Given the description of an element on the screen output the (x, y) to click on. 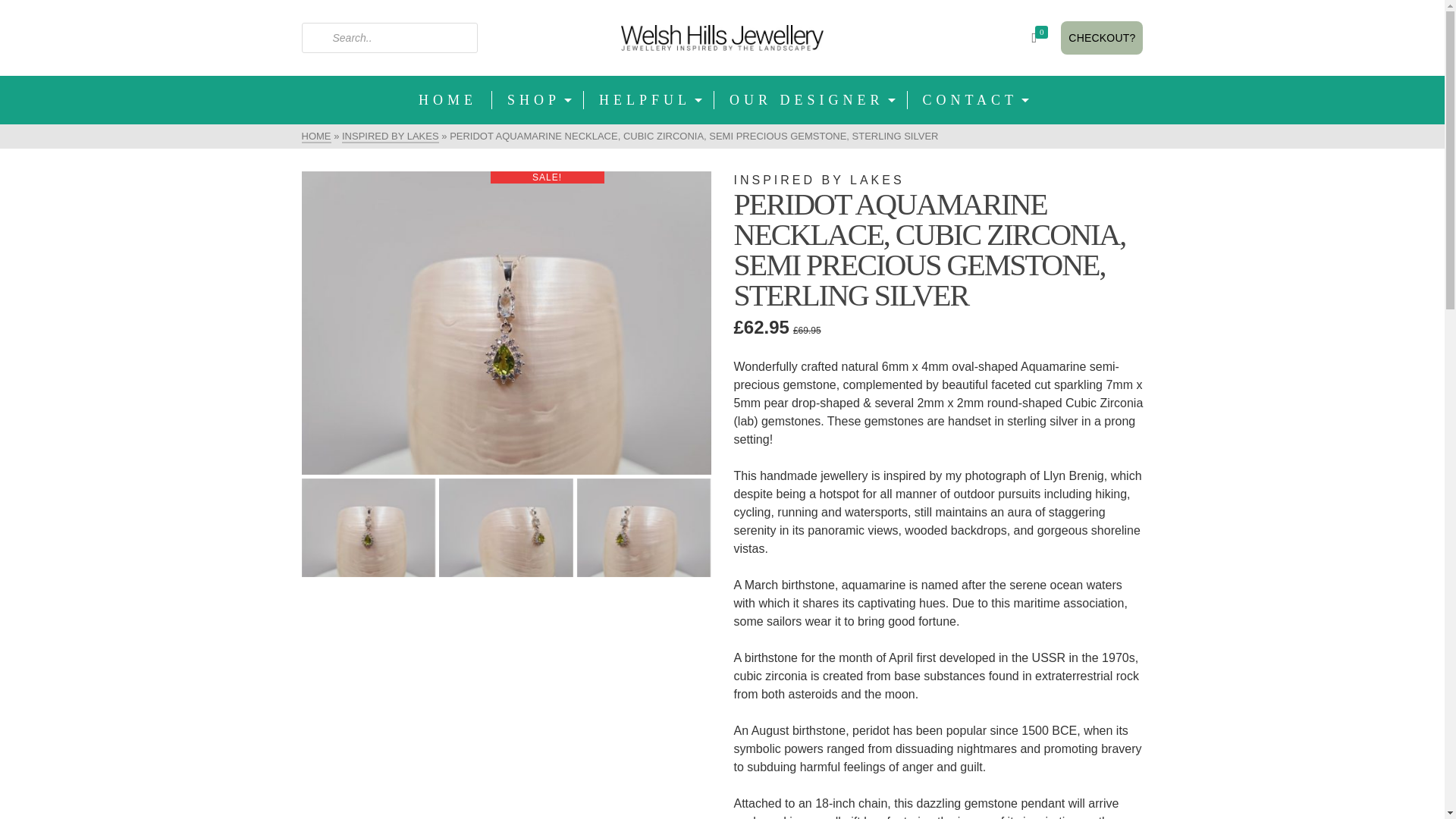
HELPFUL (648, 100)
HOME (447, 100)
HOME (316, 136)
INSPIRED BY LAKES (390, 136)
OUR DESIGNER (810, 100)
CHECKOUT? (1101, 37)
0 (1042, 38)
5309-2 (506, 323)
CONTACT (974, 100)
SHOP (537, 100)
